Given the description of an element on the screen output the (x, y) to click on. 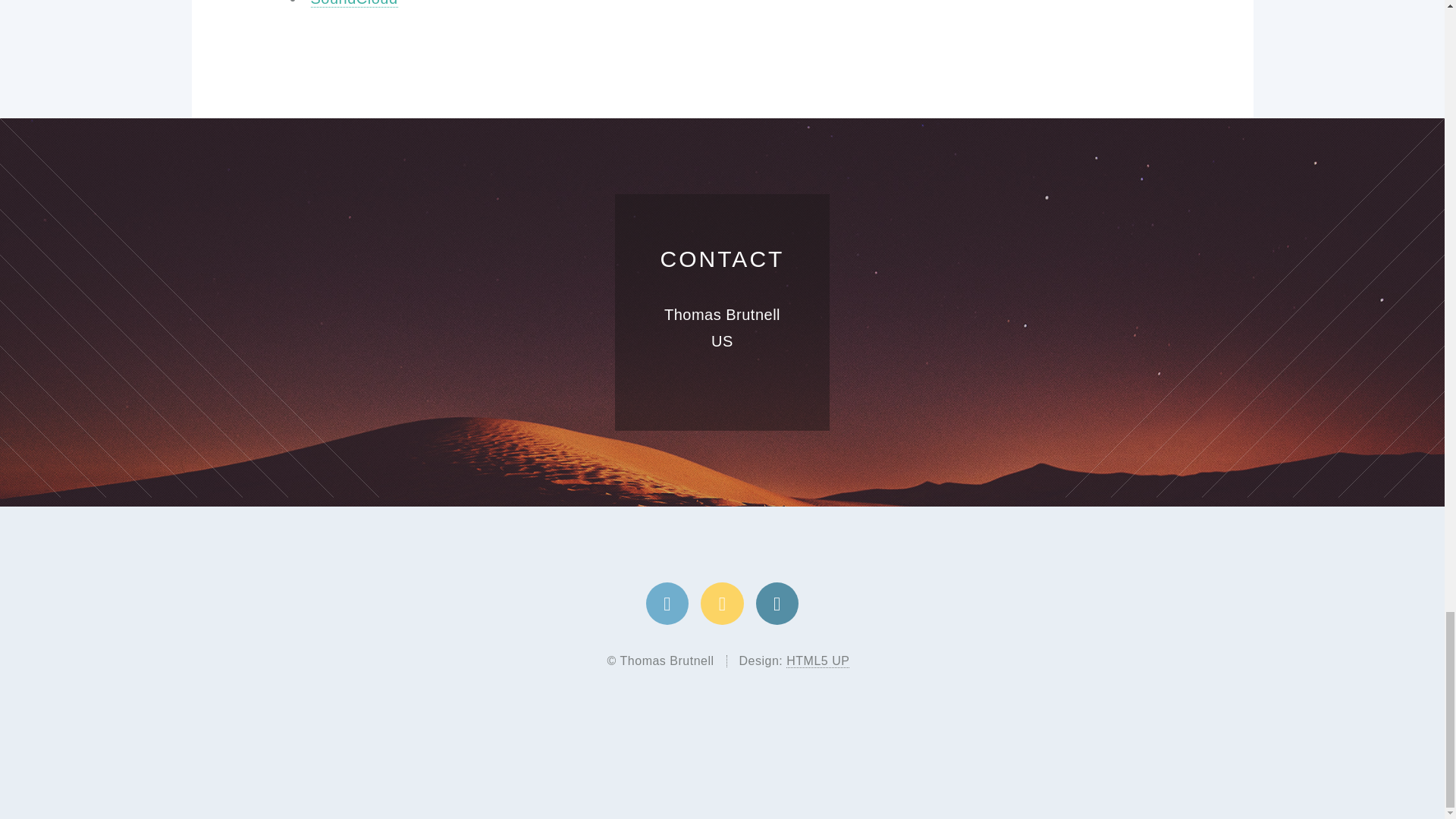
SoundCloud (354, 3)
Twitter (667, 603)
SoundCloud (354, 3)
Linkedin (776, 603)
Thomas Brutnell on Medium (721, 603)
HTML5 UP (817, 661)
